Given the description of an element on the screen output the (x, y) to click on. 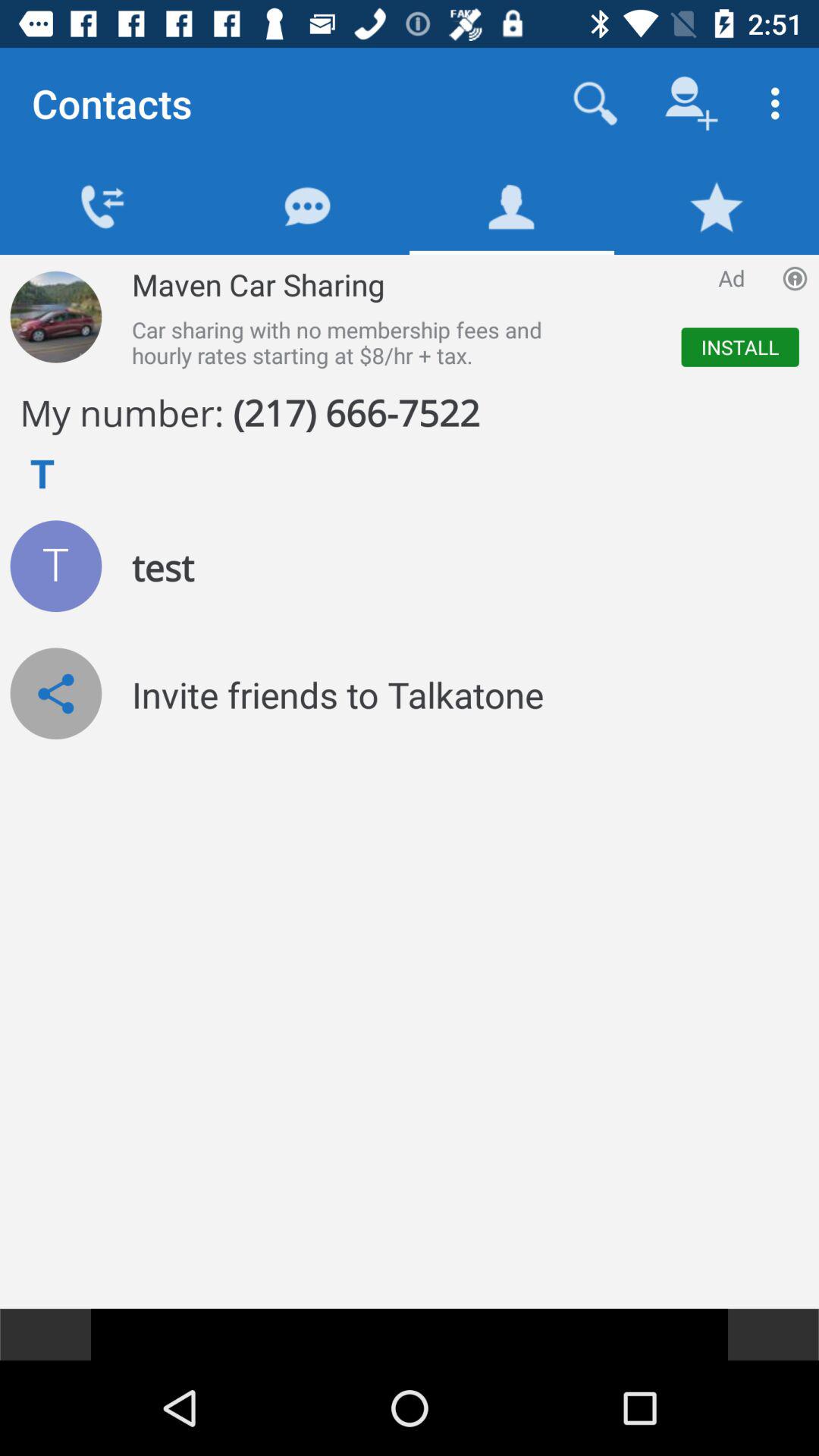
view user 's profile picture (55, 565)
